Given the description of an element on the screen output the (x, y) to click on. 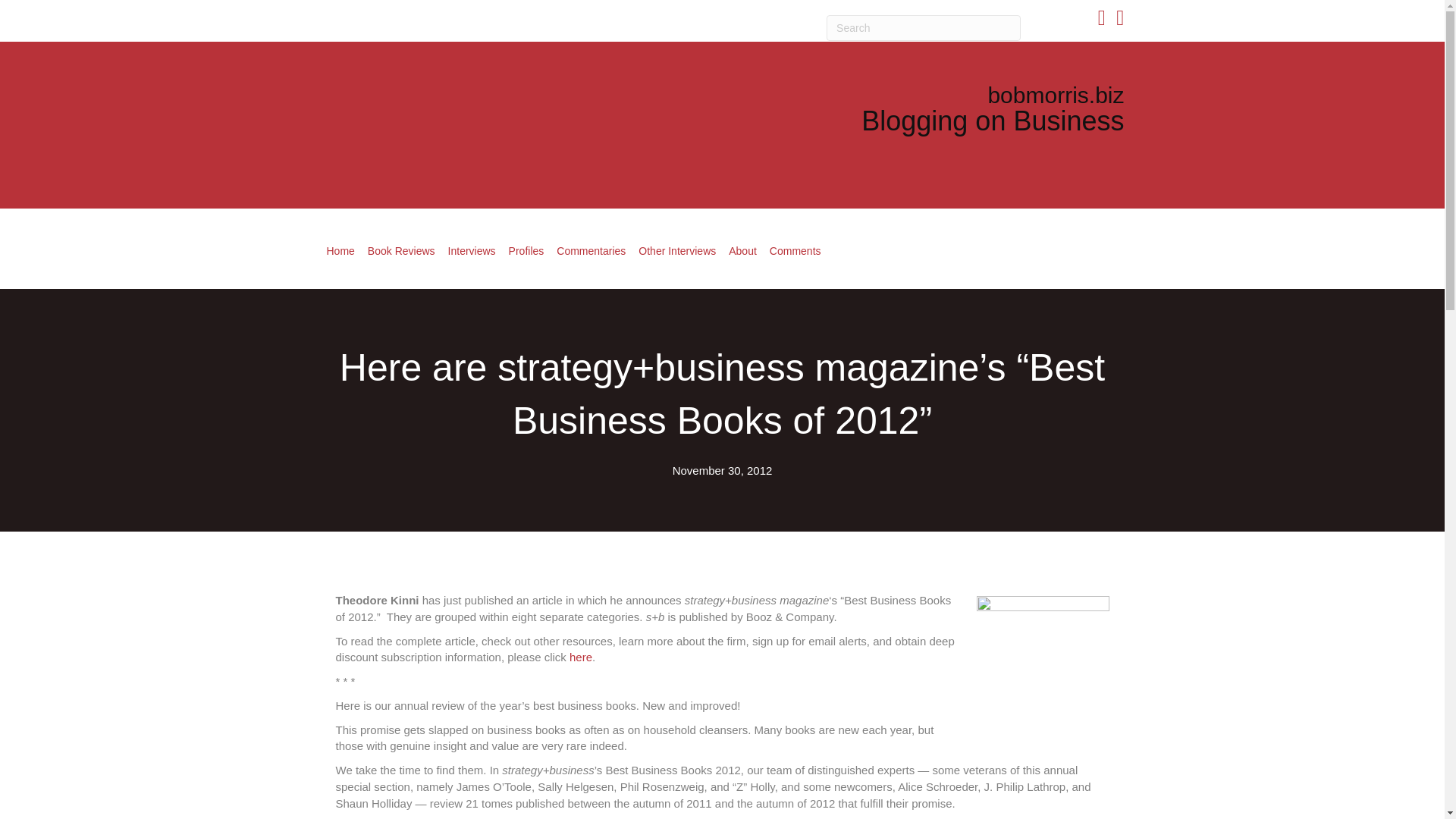
Other Interviews (676, 250)
Book Reviews (401, 250)
Comments (794, 250)
Commentaries (590, 250)
here (580, 656)
Interviews (472, 250)
bobmorris.biz (1055, 94)
bobmorris.biz (1055, 94)
Home (339, 250)
Profiles (526, 250)
